Given the description of an element on the screen output the (x, y) to click on. 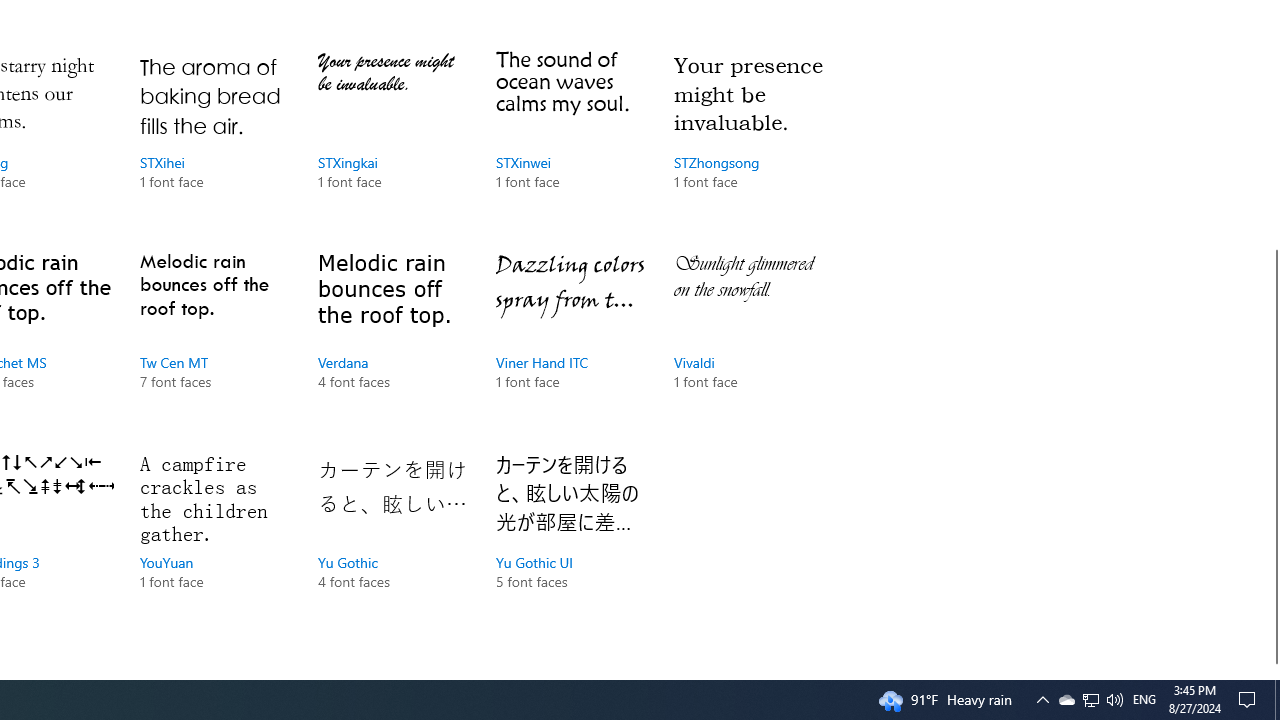
Q2790: 100% (1114, 699)
Vivaldi, 1 font face (748, 340)
Notification Chevron (1042, 699)
Action Center, No new notifications (1250, 699)
YouYuan, 1 font face (214, 540)
Verdana, 4 font faces (392, 340)
Show desktop (1277, 699)
User Promoted Notification Area (1090, 699)
Viner Hand ITC, 1 font face (570, 340)
STXingkai, 1 font face (392, 141)
Yu Gothic, 4 font faces (392, 540)
STZhongsong, 1 font face (748, 141)
Tw Cen MT, 7 font faces (214, 340)
Vertical Small Increase (1272, 671)
